Given the description of an element on the screen output the (x, y) to click on. 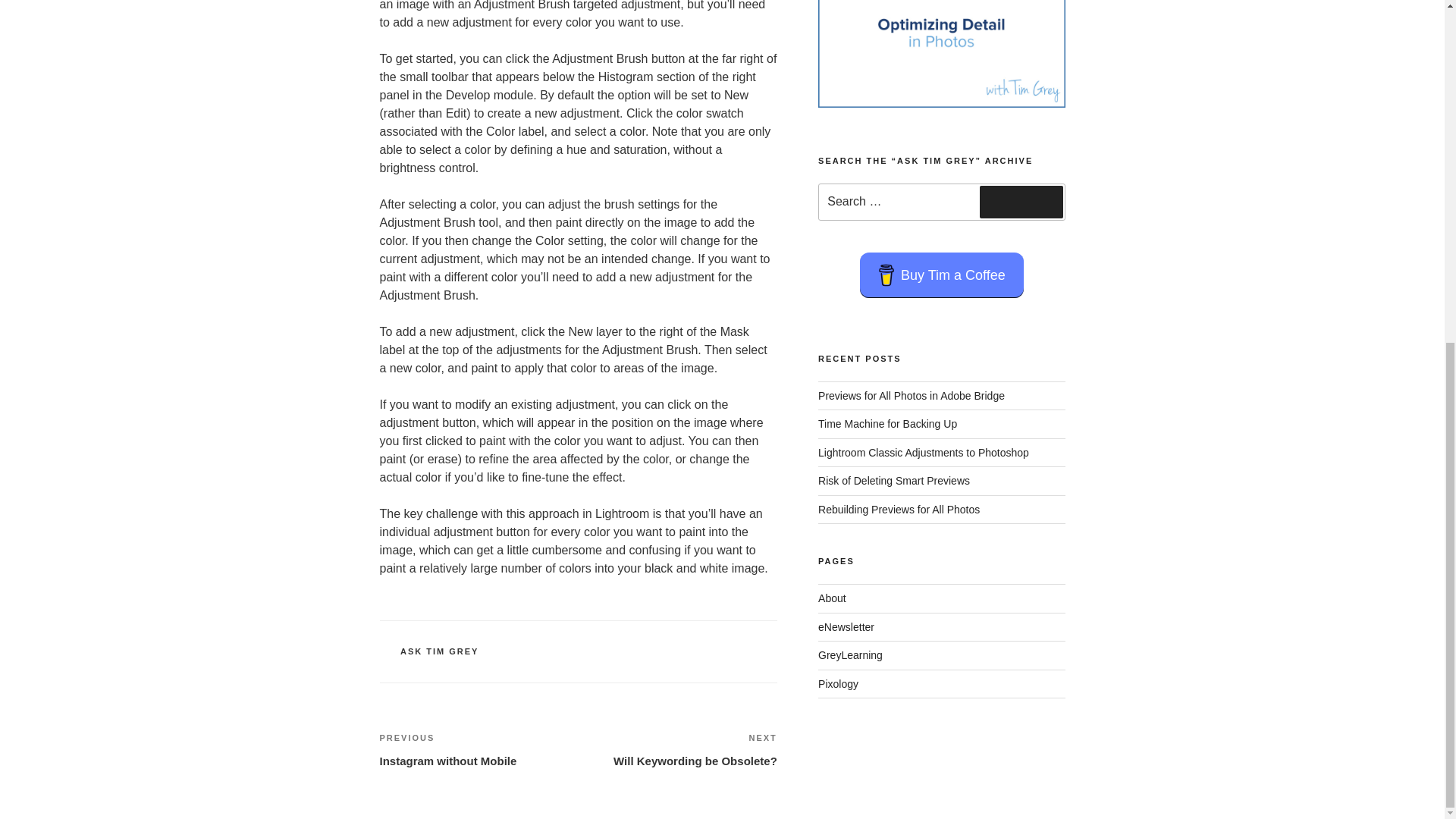
Risk of Deleting Smart Previews (893, 480)
ASK TIM GREY (478, 750)
Search (439, 651)
Previews for All Photos in Adobe Bridge (1020, 201)
Rebuilding Previews for All Photos (911, 395)
GreyLearning (898, 509)
Buy Tim a Coffee (850, 654)
Lightroom Classic Adjustments to Photoshop (941, 275)
Time Machine for Backing Up (923, 452)
